Given the description of an element on the screen output the (x, y) to click on. 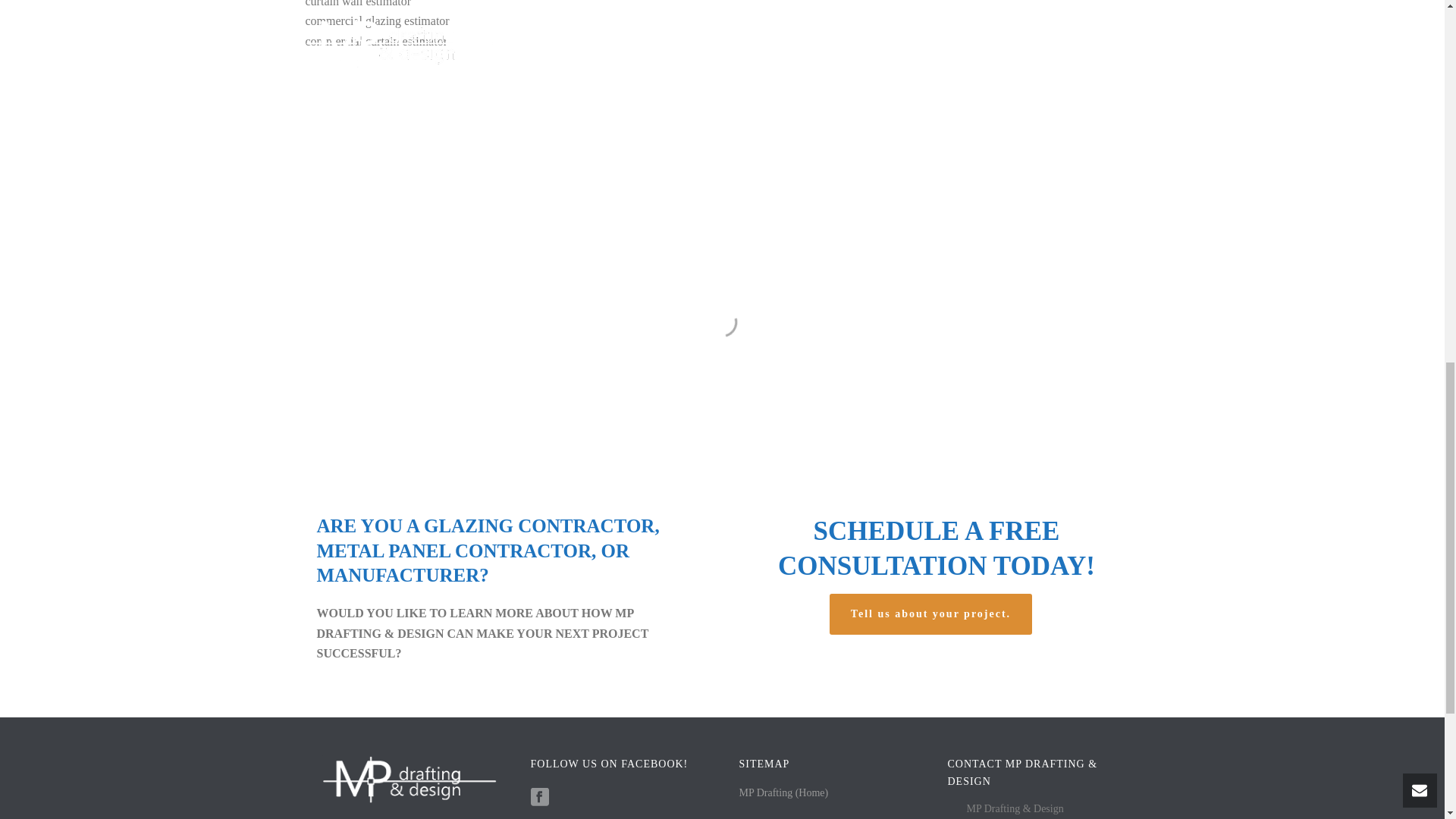
Services (756, 805)
MP Drafting Home (783, 772)
Tell us about your project. (932, 613)
Tell us about your project. (932, 613)
Follow Us on Facebook! facebook (539, 777)
Services (756, 805)
